Given the description of an element on the screen output the (x, y) to click on. 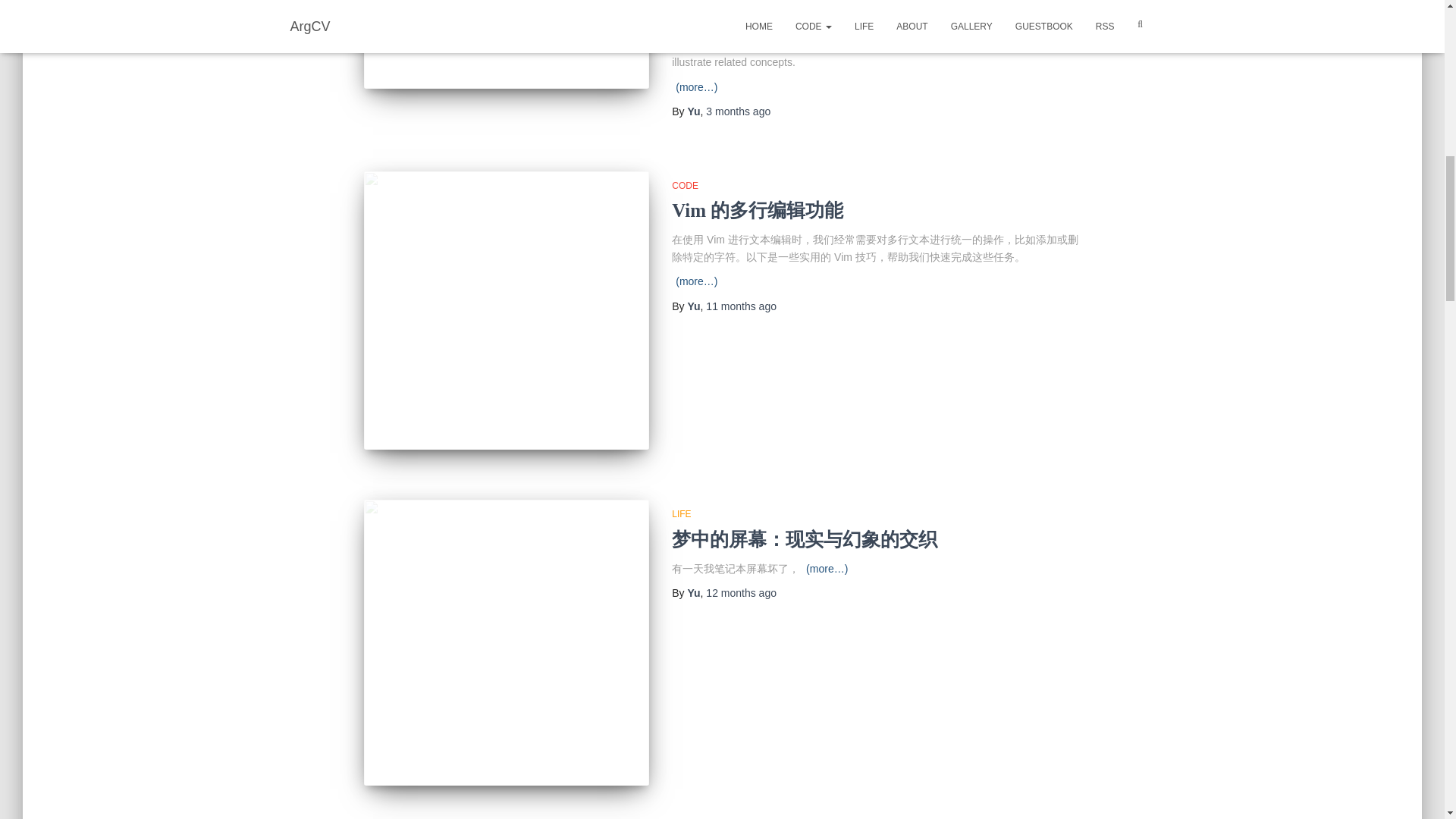
LIFE (680, 513)
12 months ago (741, 592)
CODE (684, 185)
Yu (693, 592)
3 months ago (738, 111)
Yu (693, 111)
11 months ago (741, 306)
Yu (693, 306)
